Given the description of an element on the screen output the (x, y) to click on. 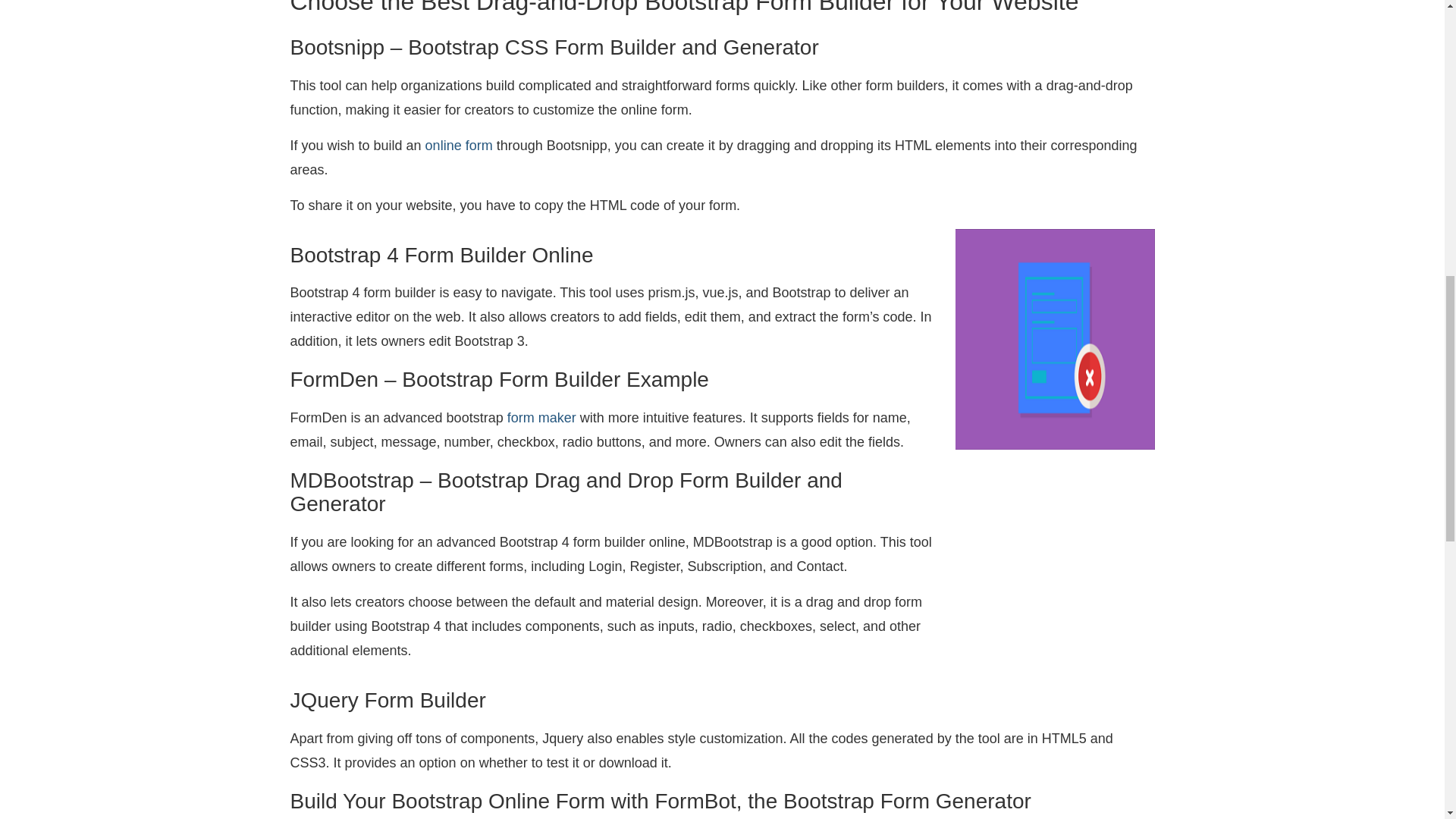
online form (459, 145)
form maker (541, 417)
